Given the description of an element on the screen output the (x, y) to click on. 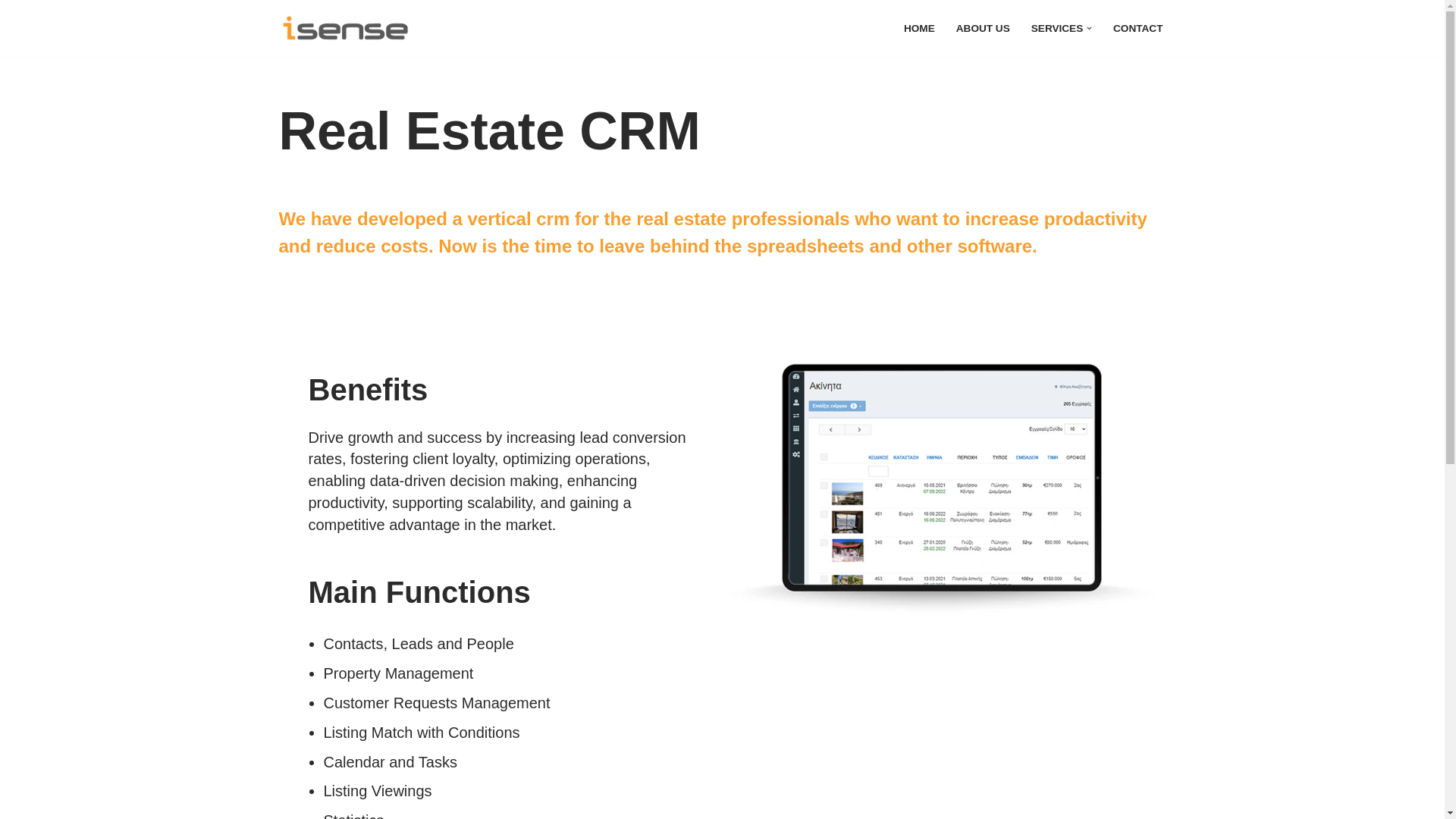
Skip to content (11, 31)
ABOUT US (983, 27)
CONTACT (1137, 27)
SERVICES (1056, 27)
HOME (919, 27)
